Given the description of an element on the screen output the (x, y) to click on. 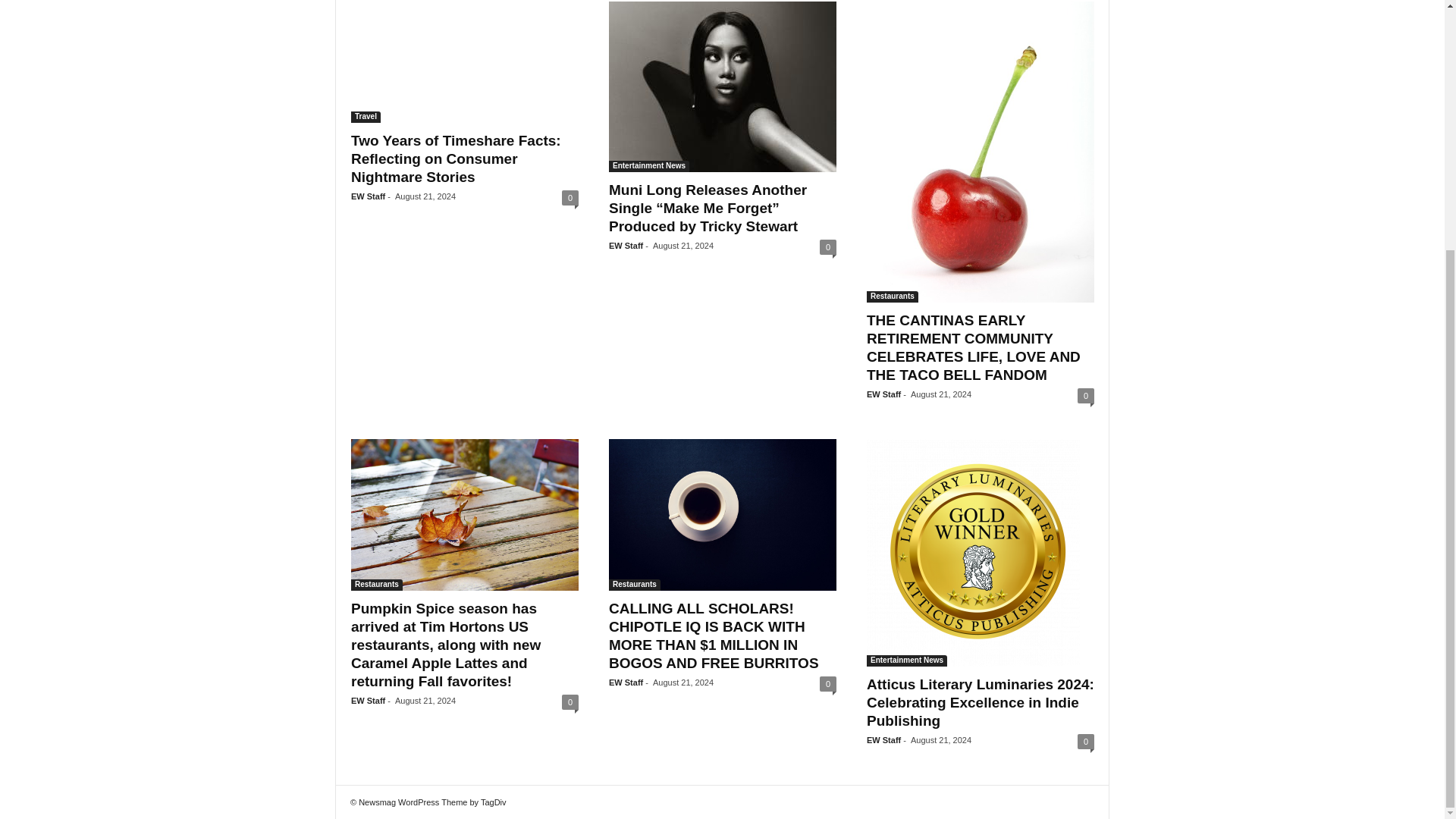
Travel (365, 116)
Restaurants (634, 584)
EW Staff (367, 195)
Restaurants (892, 296)
EW Staff (367, 700)
